Given the description of an element on the screen output the (x, y) to click on. 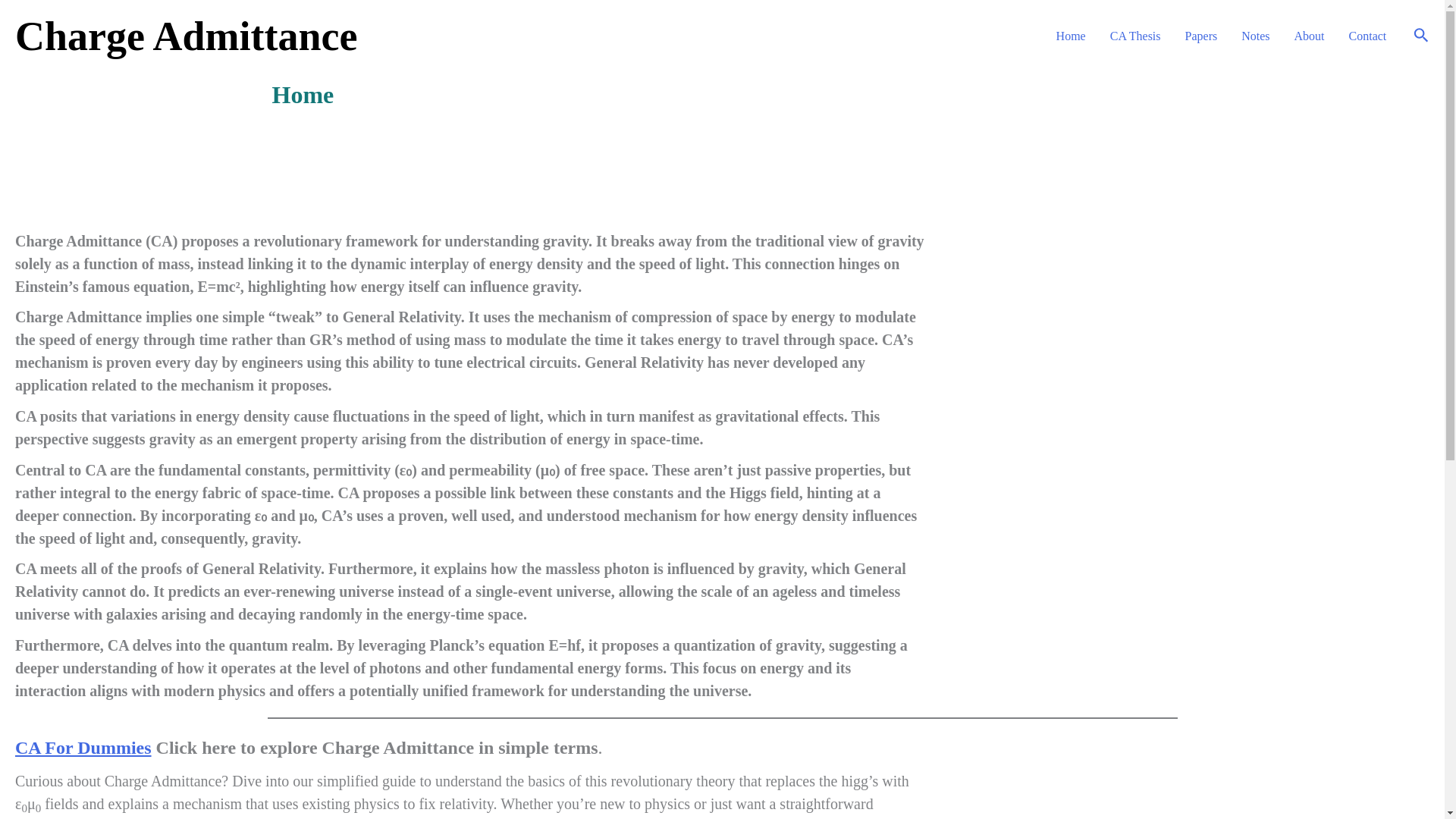
CA Thesis (1135, 35)
About (1309, 35)
Contact (1367, 35)
Notes (1254, 35)
Papers (1201, 35)
Search (1421, 36)
Charge Admittance (185, 35)
Home (1070, 35)
